Given the description of an element on the screen output the (x, y) to click on. 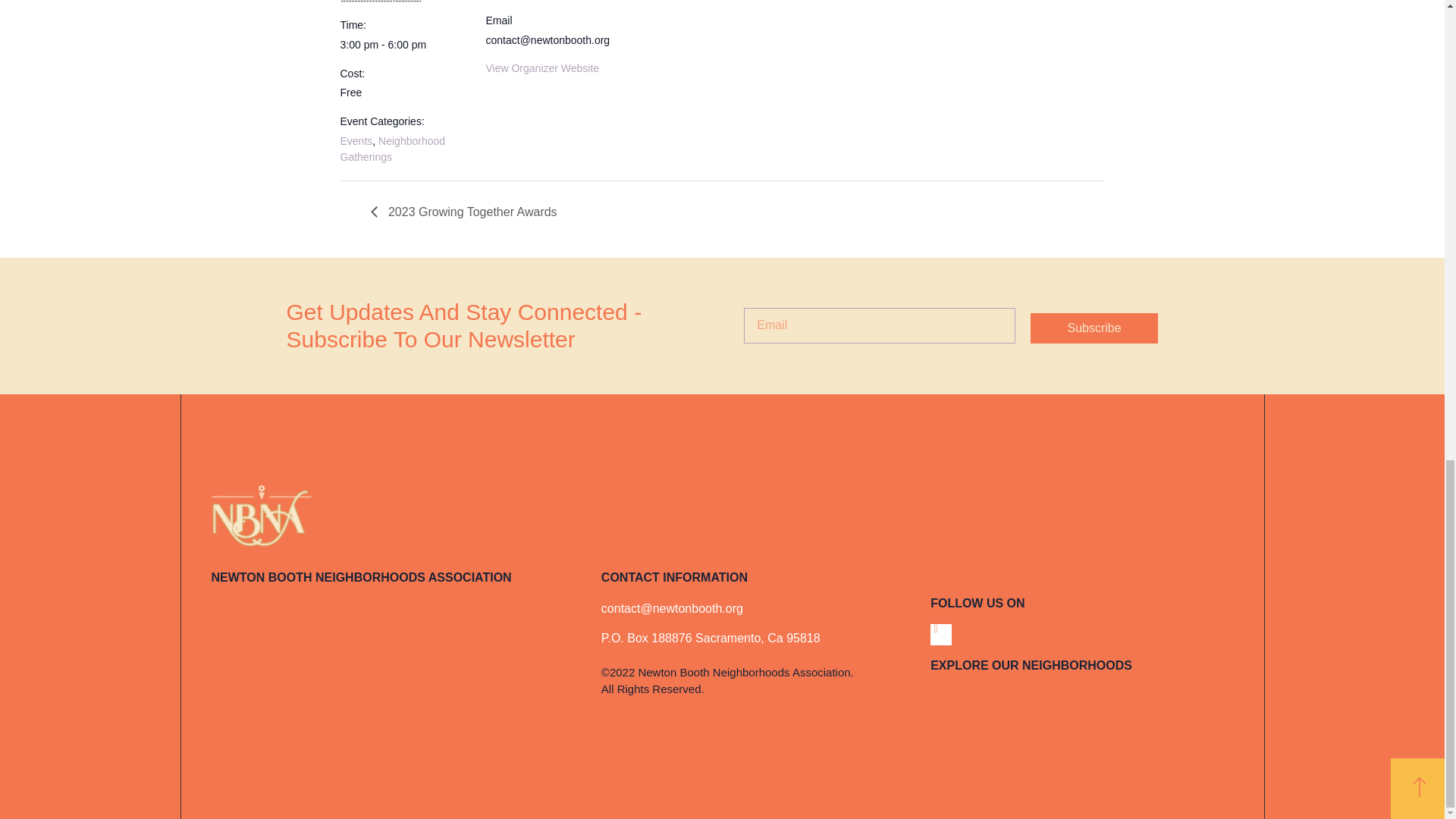
2023-10-14 (403, 44)
2023-10-14 (380, 1)
Arrow (1419, 787)
